Given the description of an element on the screen output the (x, y) to click on. 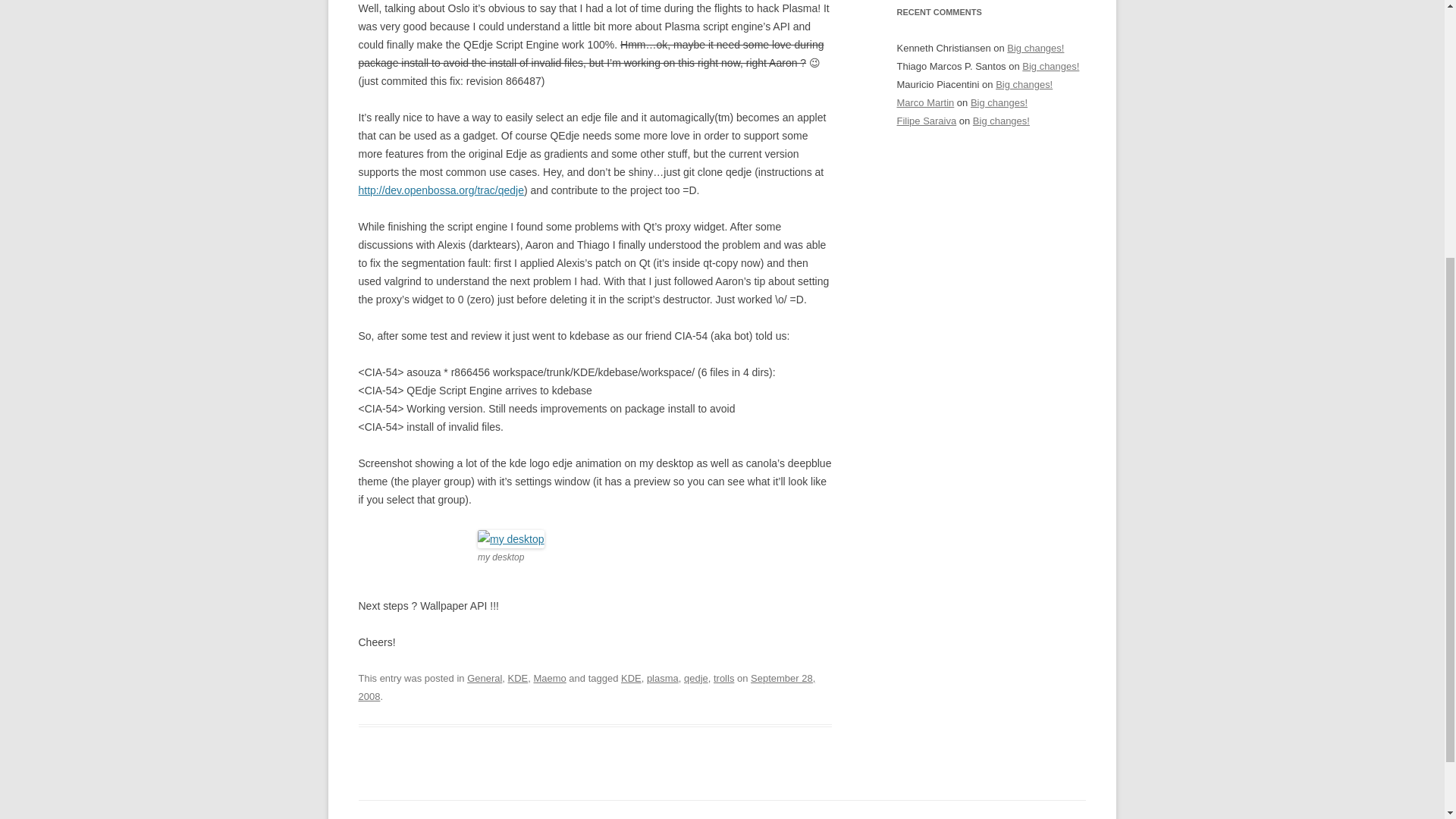
qedjescript (510, 538)
KDE (518, 677)
Marco Martin (924, 102)
Big changes! (1000, 120)
Big changes! (1035, 48)
plasma (662, 677)
KDE (631, 677)
Big changes! (1050, 66)
Maemo (549, 677)
Big changes! (1023, 84)
qedje (695, 677)
Big changes! (999, 102)
General (484, 677)
September 28, 2008 (586, 686)
9:47 pm (586, 686)
